Given the description of an element on the screen output the (x, y) to click on. 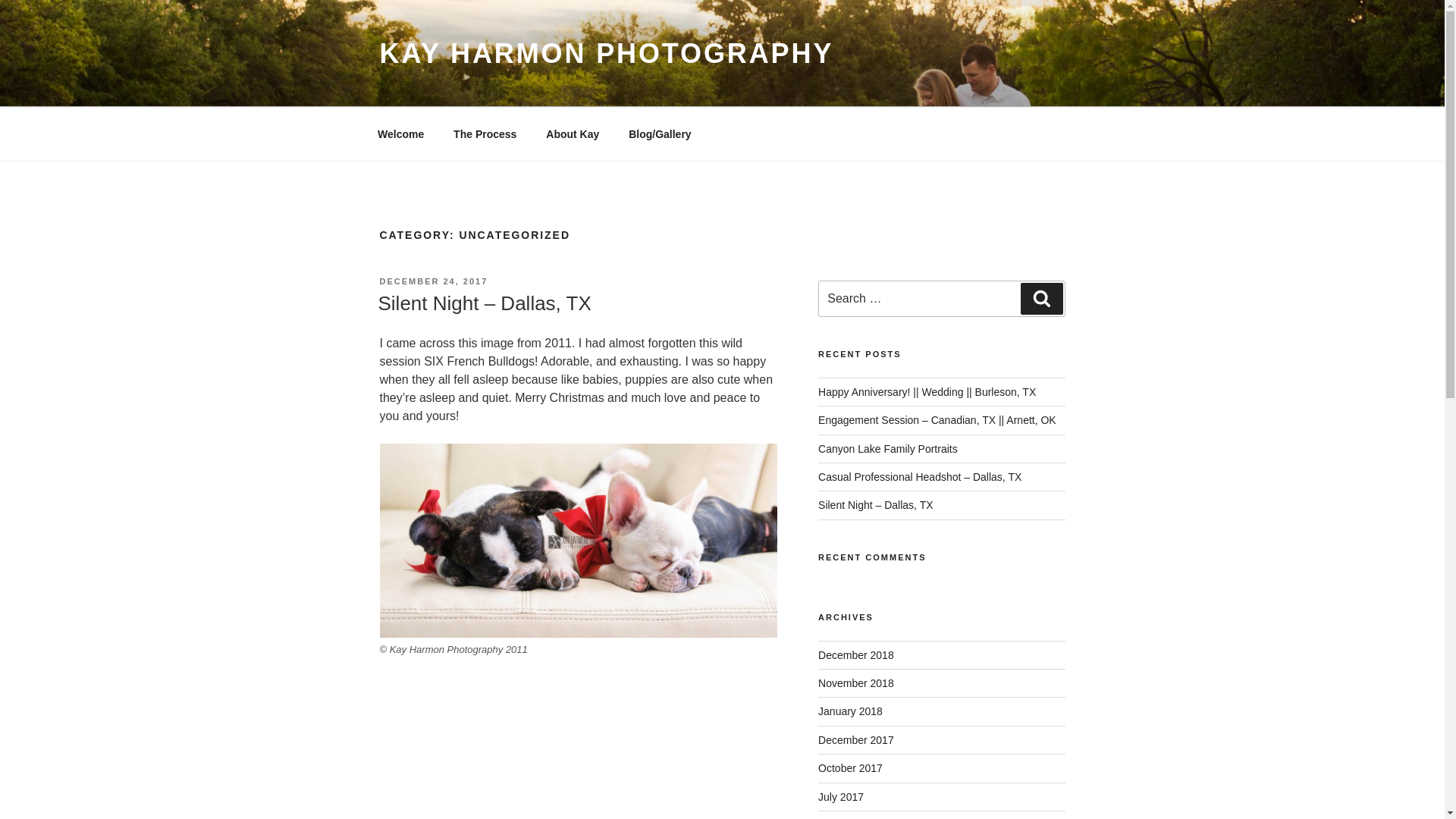
Canyon Lake Family Portraits (888, 449)
January 2018 (850, 711)
October 2017 (850, 767)
December 2018 (855, 654)
November 2018 (855, 683)
Welcome (400, 133)
DECEMBER 24, 2017 (432, 280)
KAY HARMON PHOTOGRAPHY (605, 52)
Search (1041, 298)
About Kay (572, 133)
The Process (485, 133)
July 2017 (840, 797)
December 2017 (855, 739)
